Given the description of an element on the screen output the (x, y) to click on. 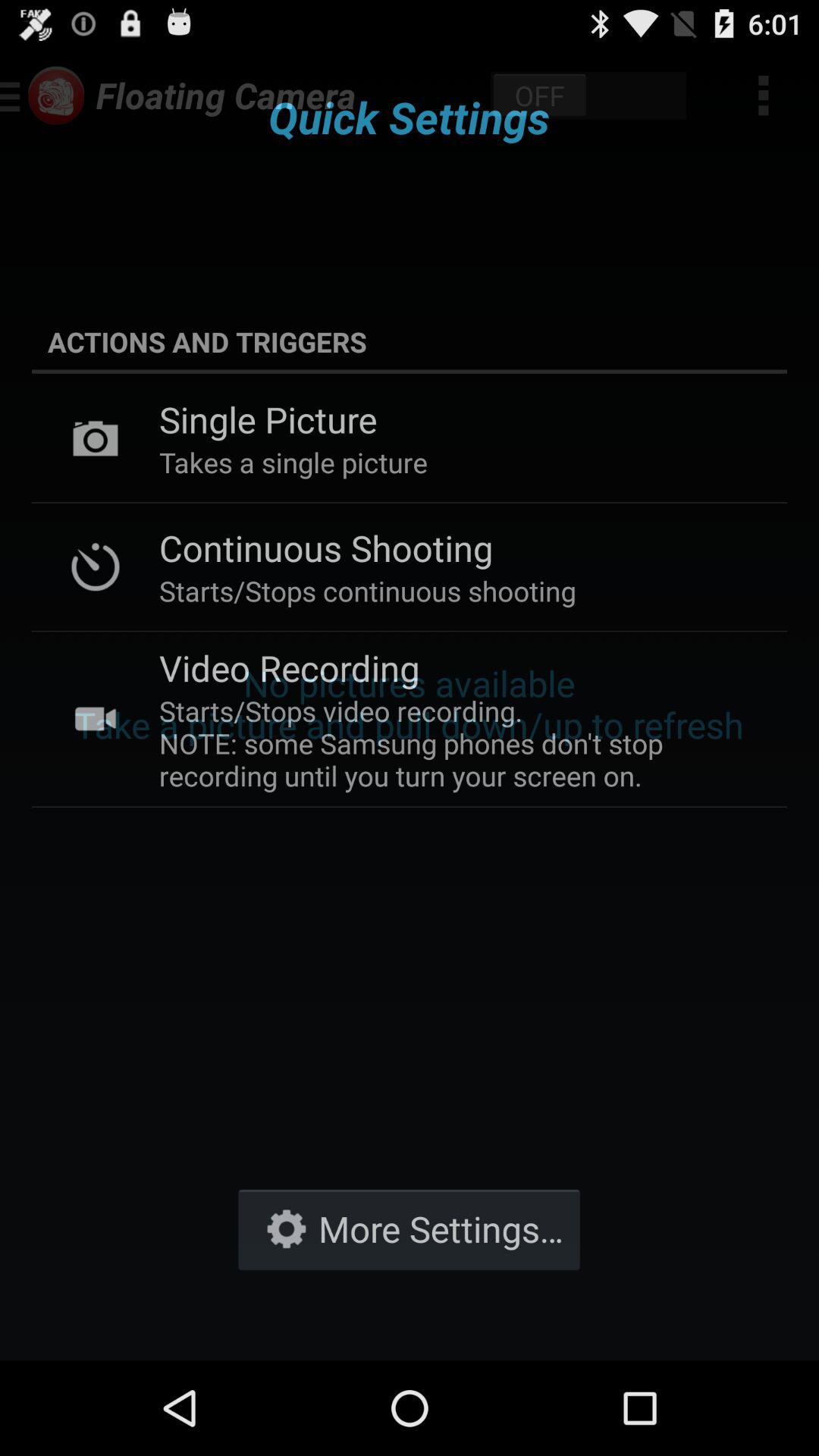
launch the icon below starts stops video (408, 1228)
